Given the description of an element on the screen output the (x, y) to click on. 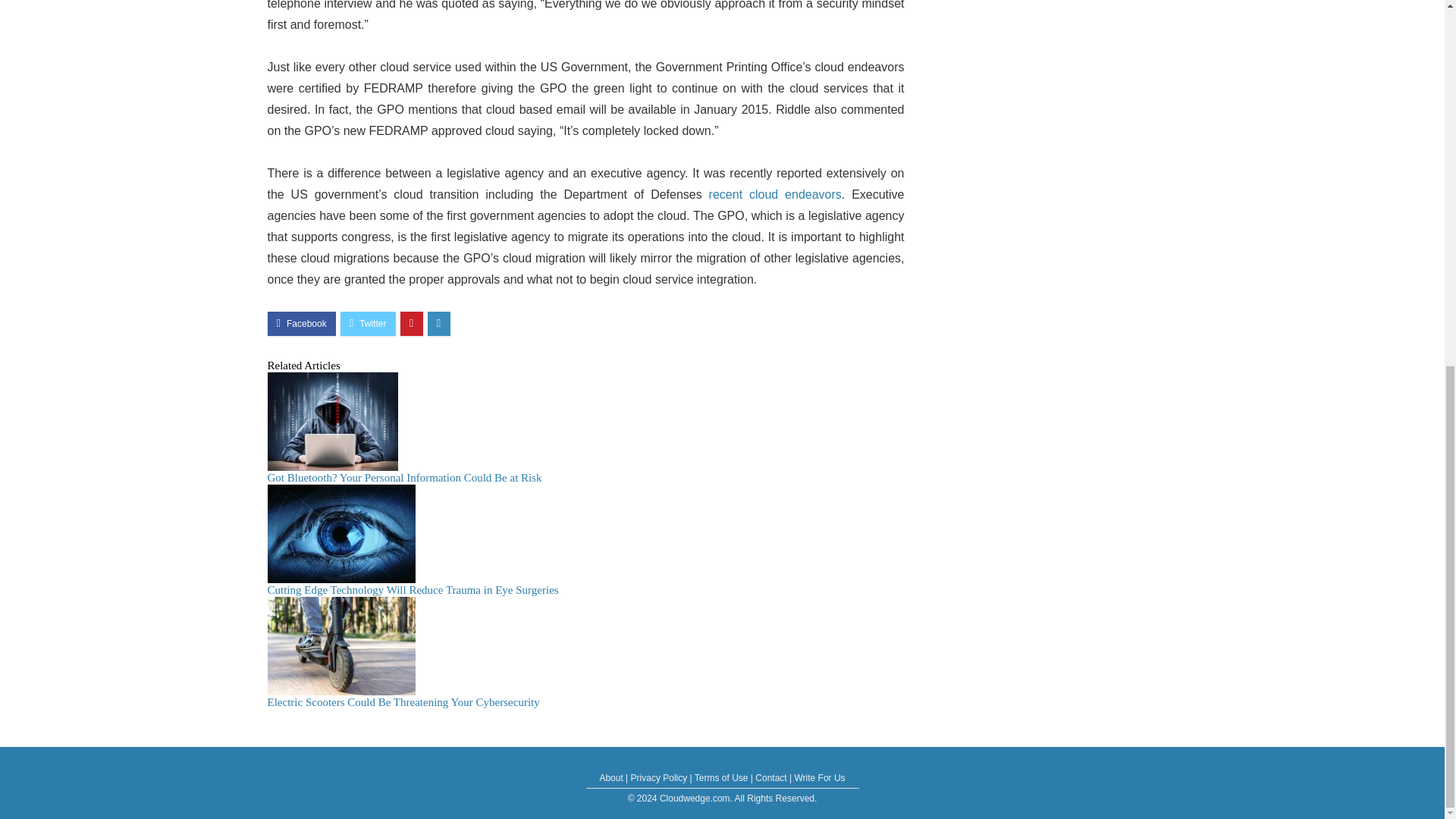
Got Bluetooth? Your Personal Information Could Be at Risk (403, 477)
Got Bluetooth? Your Personal Information Could Be at Risk (403, 477)
Cutting Edge Technology Will Reduce Trauma in Eye Surgeries (411, 589)
Electric Scooters Could Be Threatening Your Cybersecurity (402, 702)
Electric Scooters Could Be Threatening Your Cybersecurity (402, 702)
Cutting Edge Technology Will Reduce Trauma in Eye Surgeries (411, 589)
recent cloud endeavors (771, 194)
